Given the description of an element on the screen output the (x, y) to click on. 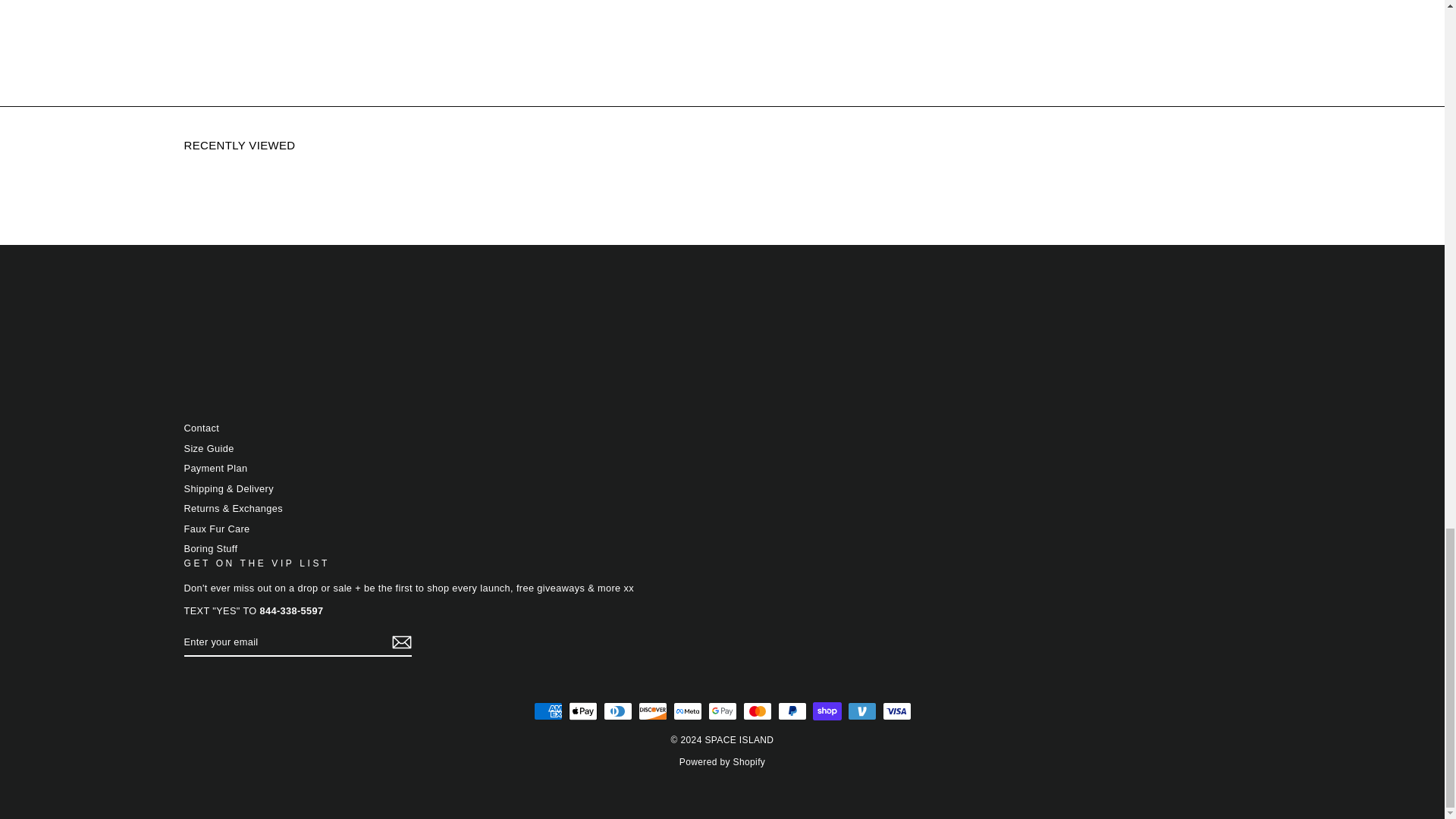
Diners Club (617, 710)
icon-email (400, 642)
Meta Pay (686, 710)
American Express (548, 710)
Apple Pay (582, 710)
Discover (652, 710)
